Given the description of an element on the screen output the (x, y) to click on. 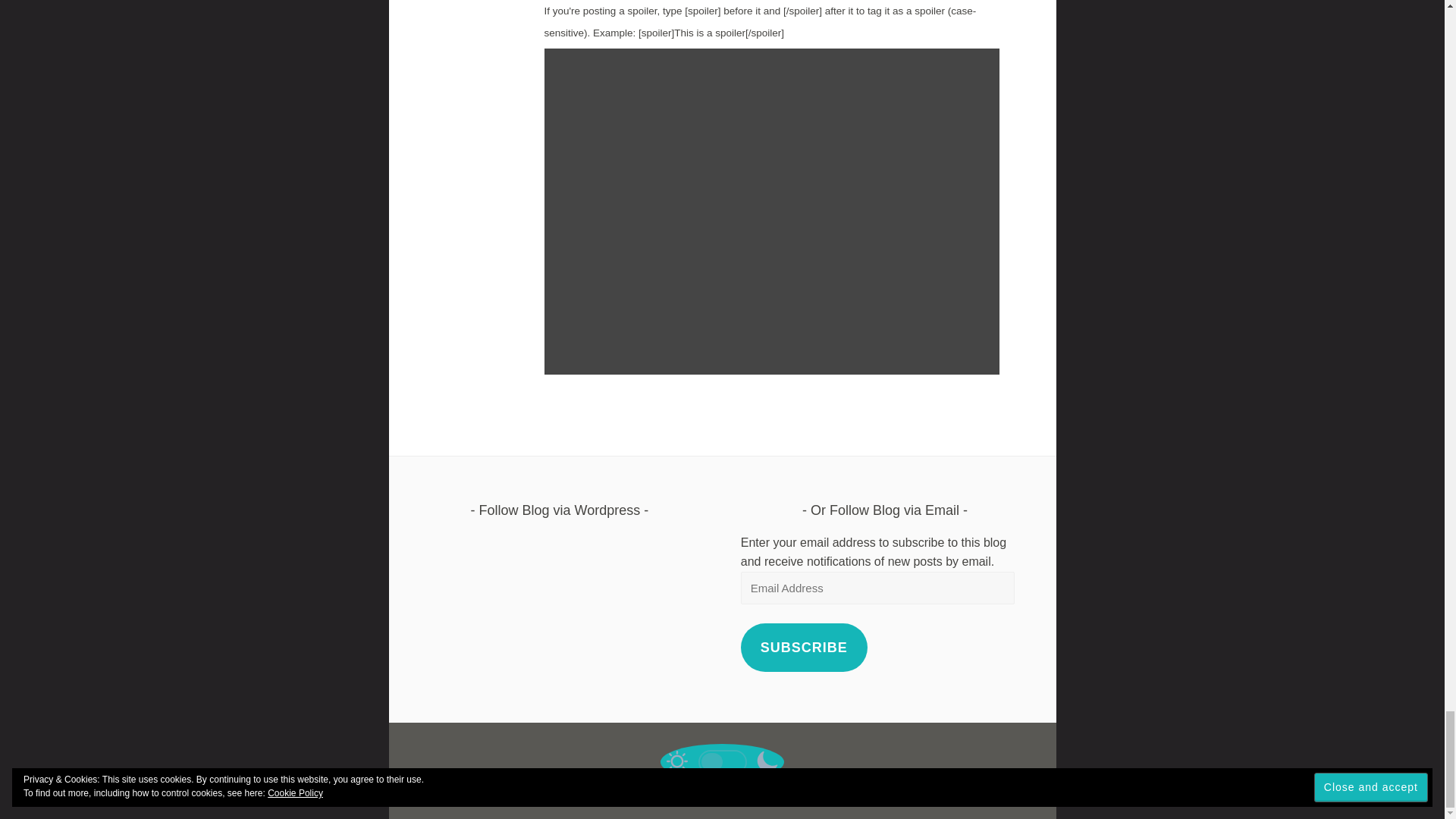
Follow Button (559, 539)
